Given the description of an element on the screen output the (x, y) to click on. 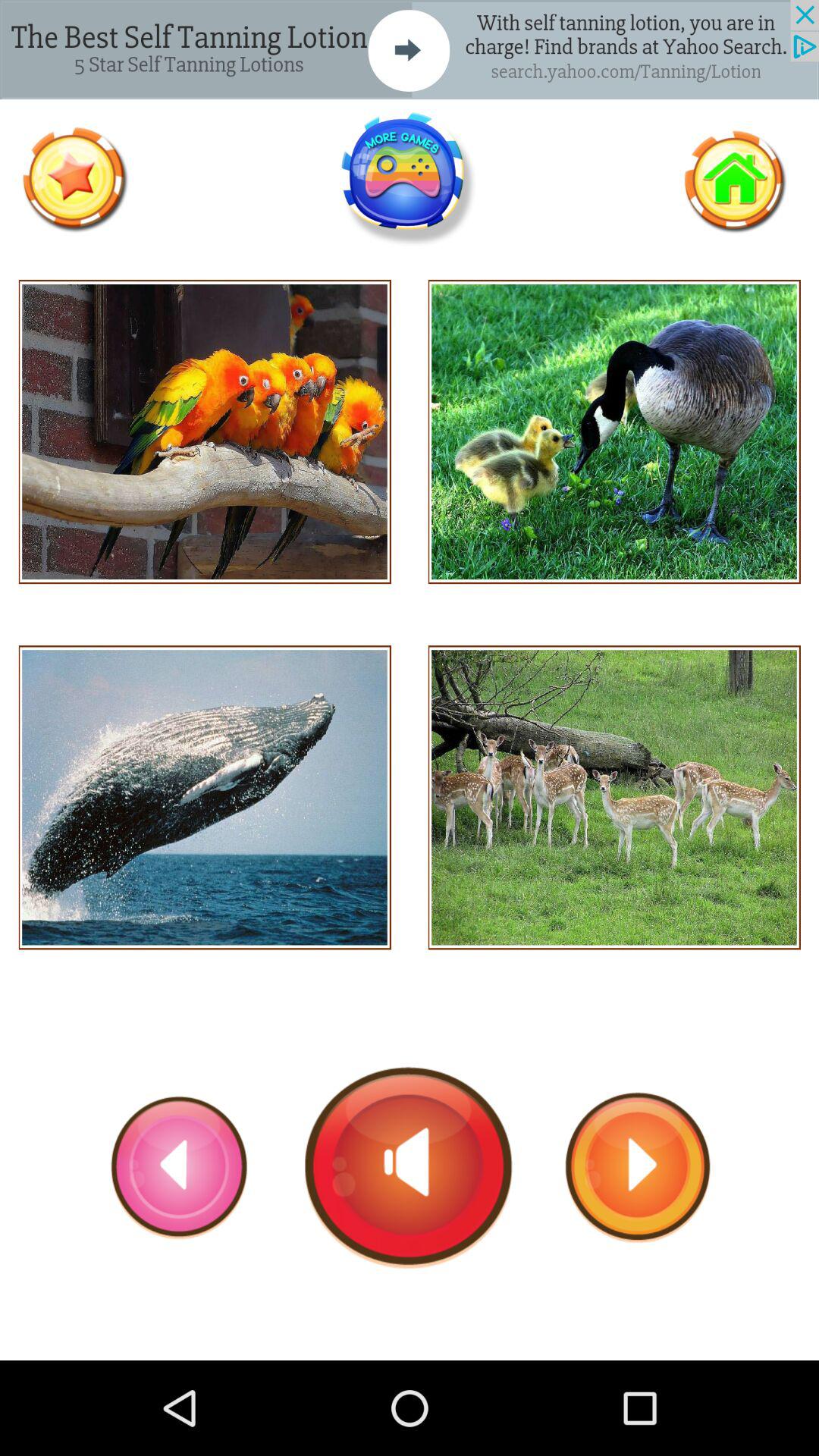
go home (734, 179)
